Given the description of an element on the screen output the (x, y) to click on. 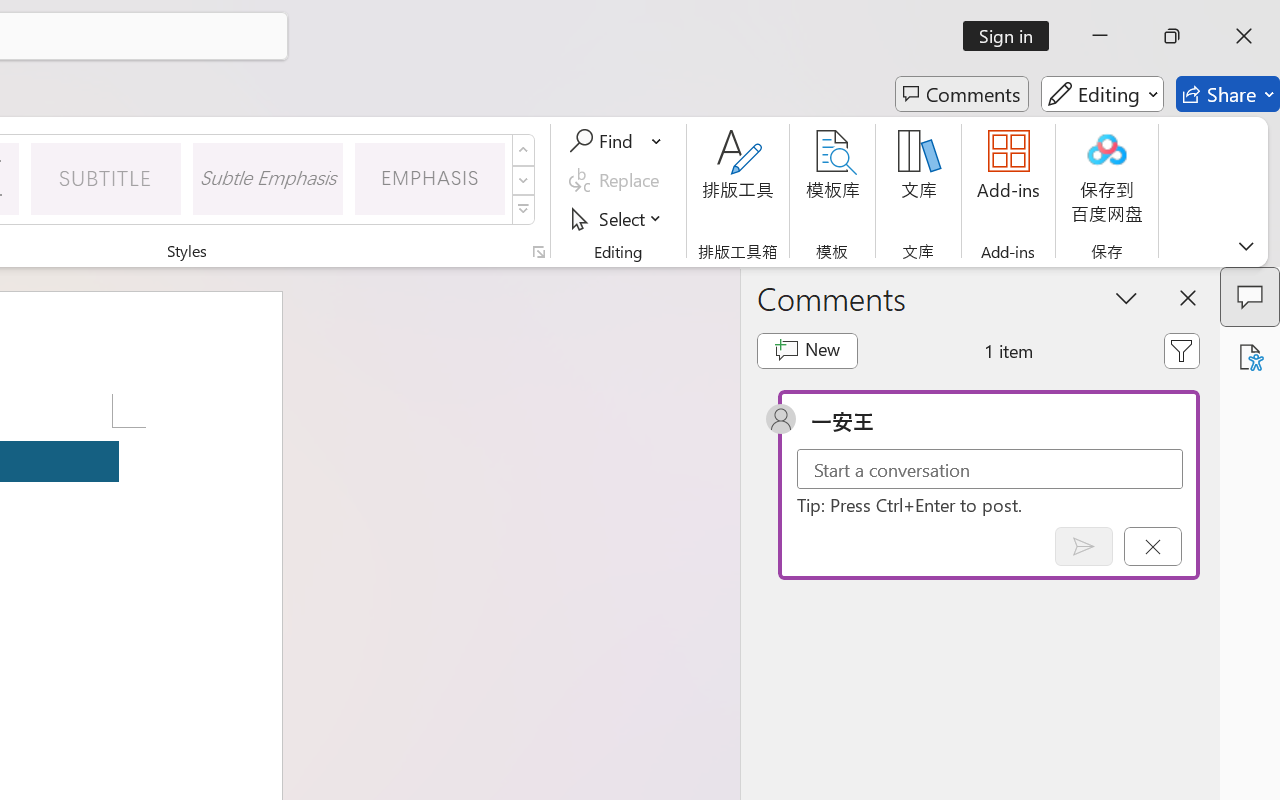
Filter (1181, 350)
